Given the description of an element on the screen output the (x, y) to click on. 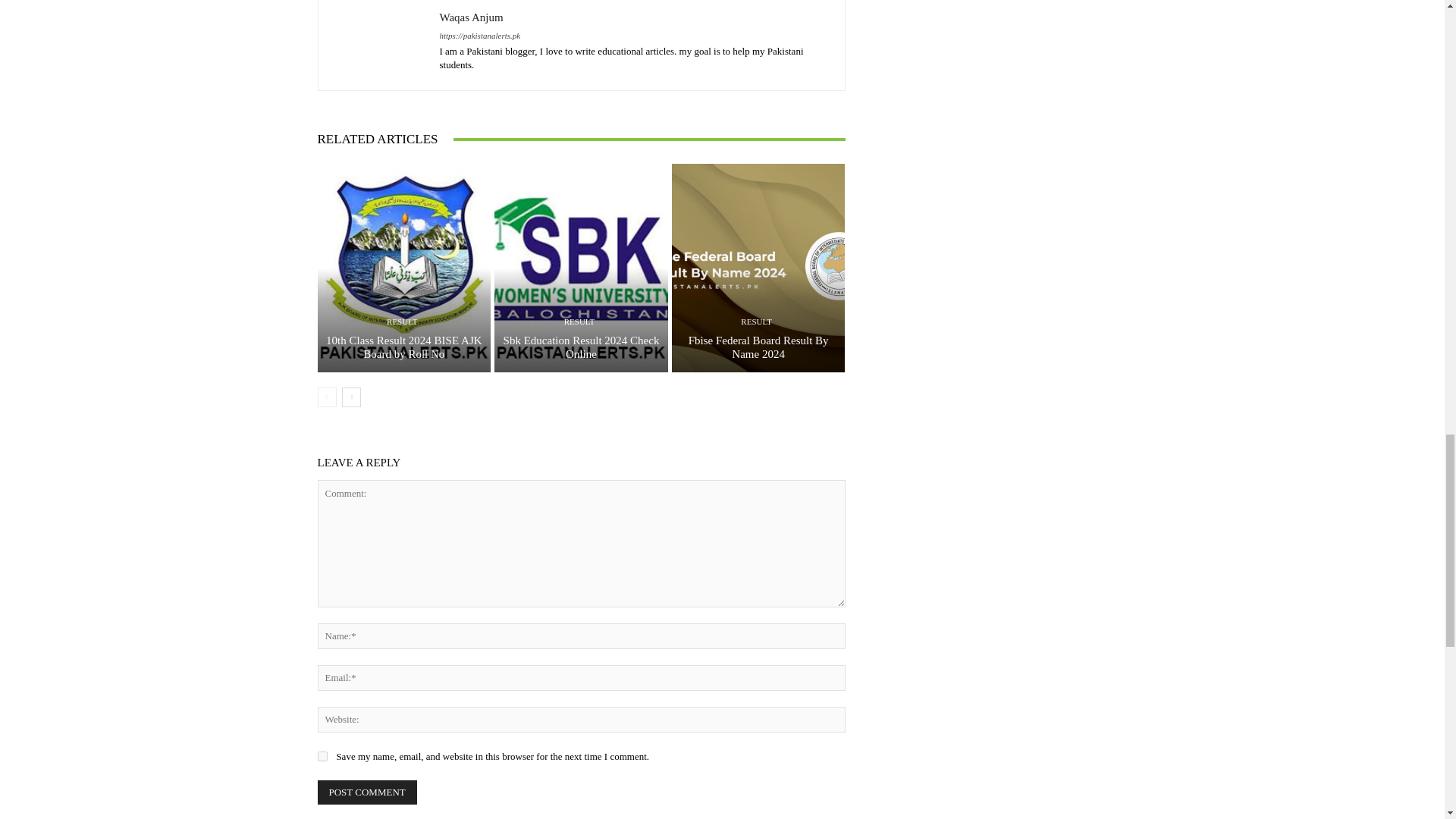
10th Class Result 2024 BISE AJK Board by Roll No (403, 347)
RESULT (402, 321)
Post Comment (366, 792)
yes (321, 756)
Waqas Anjum (634, 17)
